Given the description of an element on the screen output the (x, y) to click on. 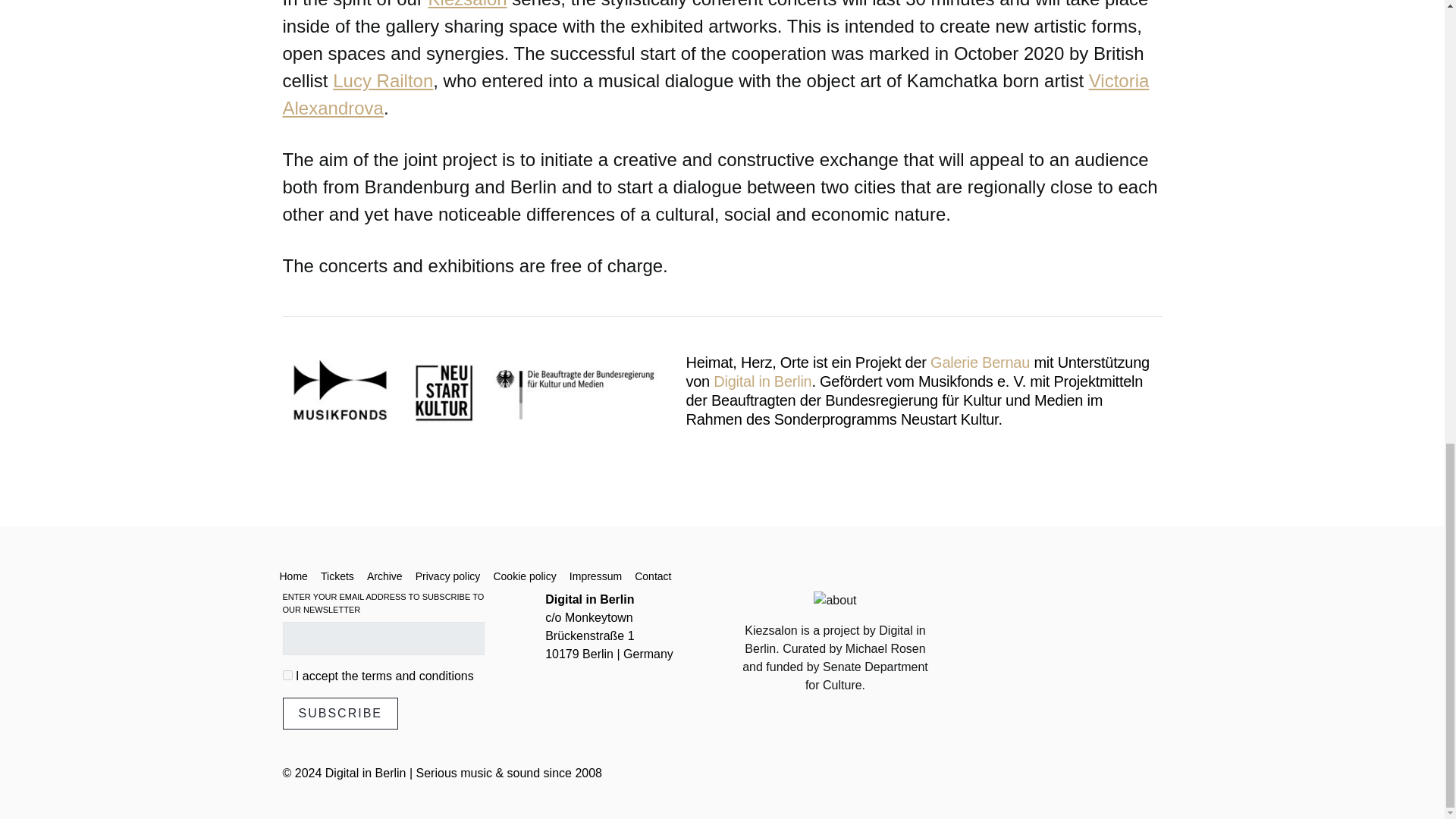
on (287, 675)
Subscribe (339, 713)
Please enter a valid email address (382, 638)
